Given the description of an element on the screen output the (x, y) to click on. 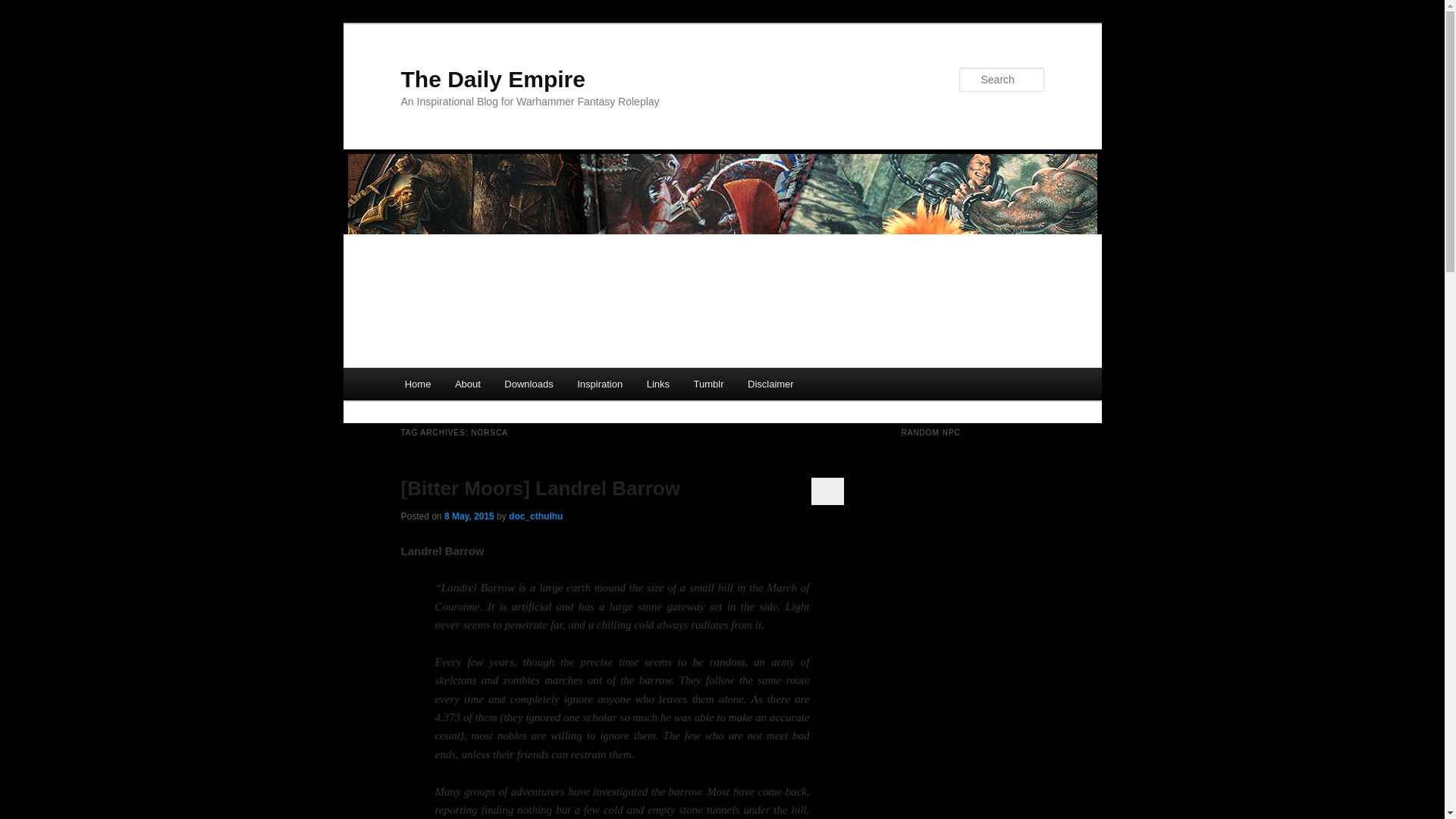
Downloads (529, 383)
Tumblr (708, 383)
Inspiration (598, 383)
Search (24, 8)
About (467, 383)
Links (657, 383)
Disclaimer (770, 383)
8 May, 2015 (469, 516)
The Daily Empire (492, 78)
